Given the description of an element on the screen output the (x, y) to click on. 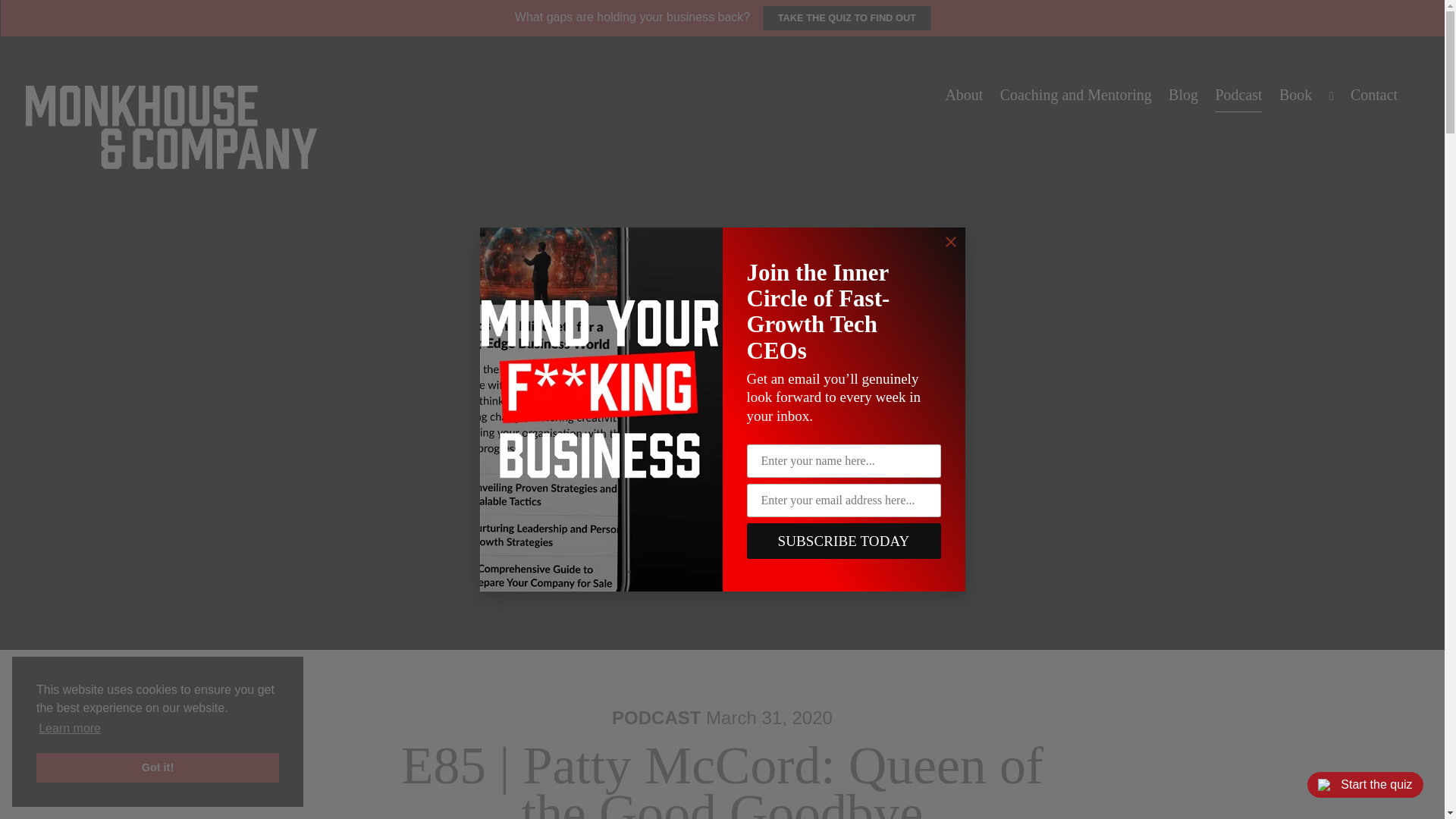
Got it! (157, 767)
Close (950, 241)
Book (1294, 95)
Contact (1372, 95)
Blog (1183, 95)
TAKE THE QUIZ TO FIND OUT (846, 17)
SUBSCRIBE TODAY (842, 540)
About (963, 95)
Learn more (69, 728)
Coaching and Mentoring (1074, 95)
Podcast (1238, 95)
